Given the description of an element on the screen output the (x, y) to click on. 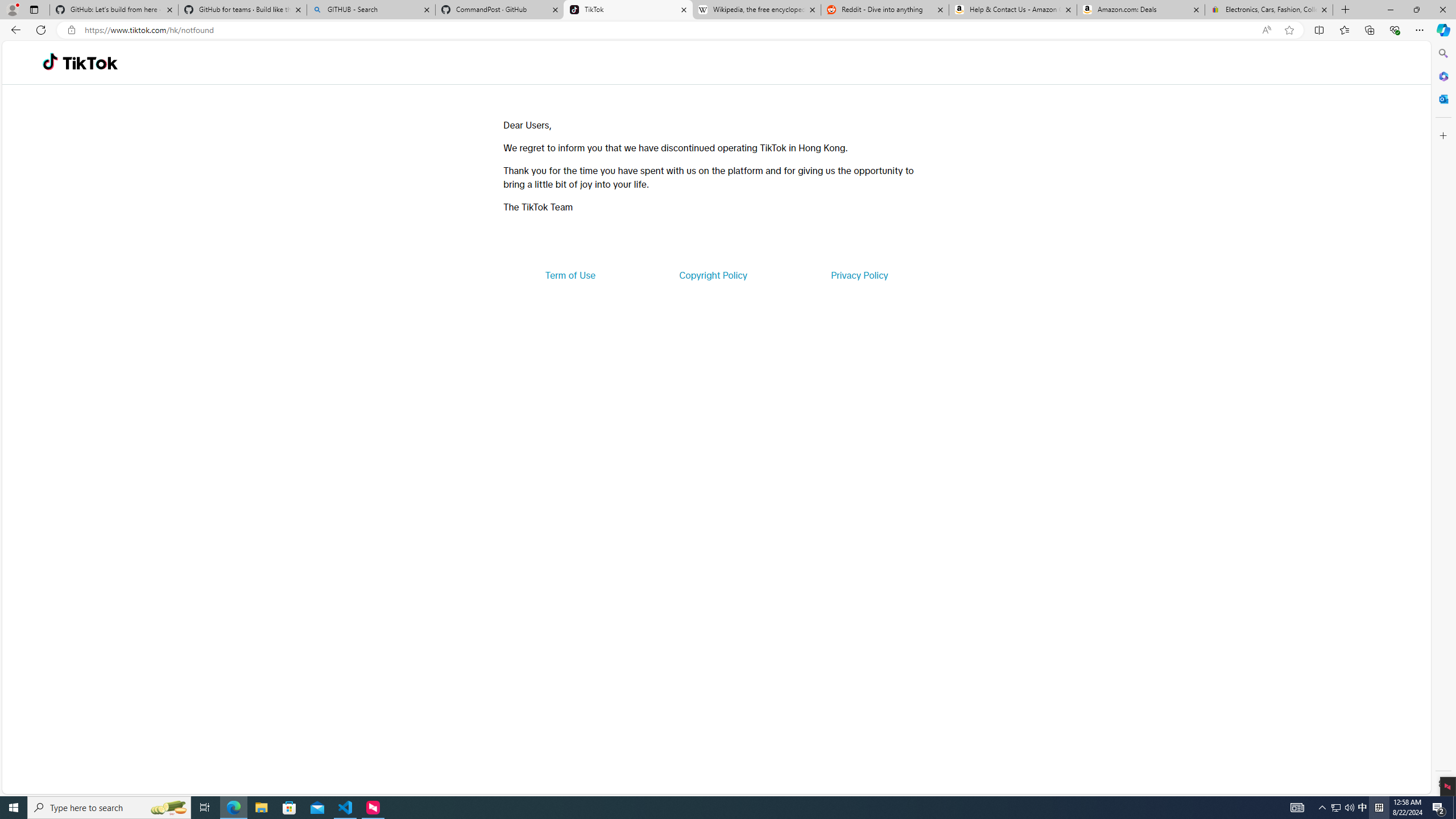
TikTok (89, 62)
Help & Contact Us - Amazon Customer Service (1012, 9)
Privacy Policy (858, 274)
Term of Use (569, 274)
